Given the description of an element on the screen output the (x, y) to click on. 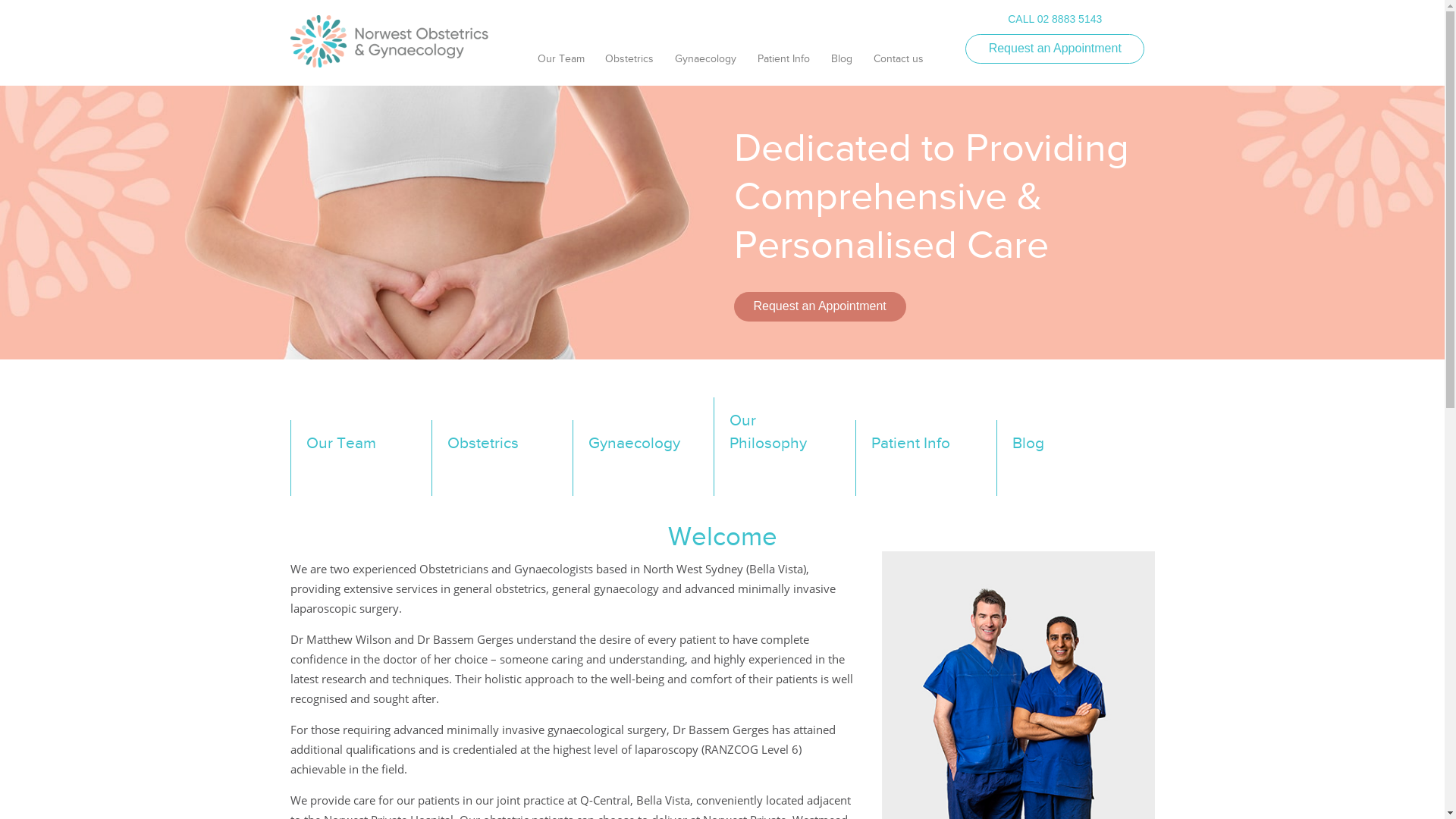
Request an Appointment Element type: text (820, 306)
Obstetrics Element type: text (500, 457)
Gynaecology Element type: text (641, 457)
Patient Info Element type: text (924, 457)
Gynaecology Element type: text (705, 64)
Request an Appointment Element type: text (1054, 48)
Request an Appointment Element type: text (1054, 48)
Blog Element type: text (1065, 457)
Our Team Element type: text (560, 64)
CALL 02 8883 5143 Element type: text (1054, 18)
Contact us Element type: text (898, 64)
Our Philosophy Element type: text (782, 446)
Patient Info Element type: text (783, 64)
Blog Element type: text (841, 64)
Request an Appointment Element type: text (820, 306)
Our Team Element type: text (358, 457)
Obstetrics Element type: text (629, 64)
